Given the description of an element on the screen output the (x, y) to click on. 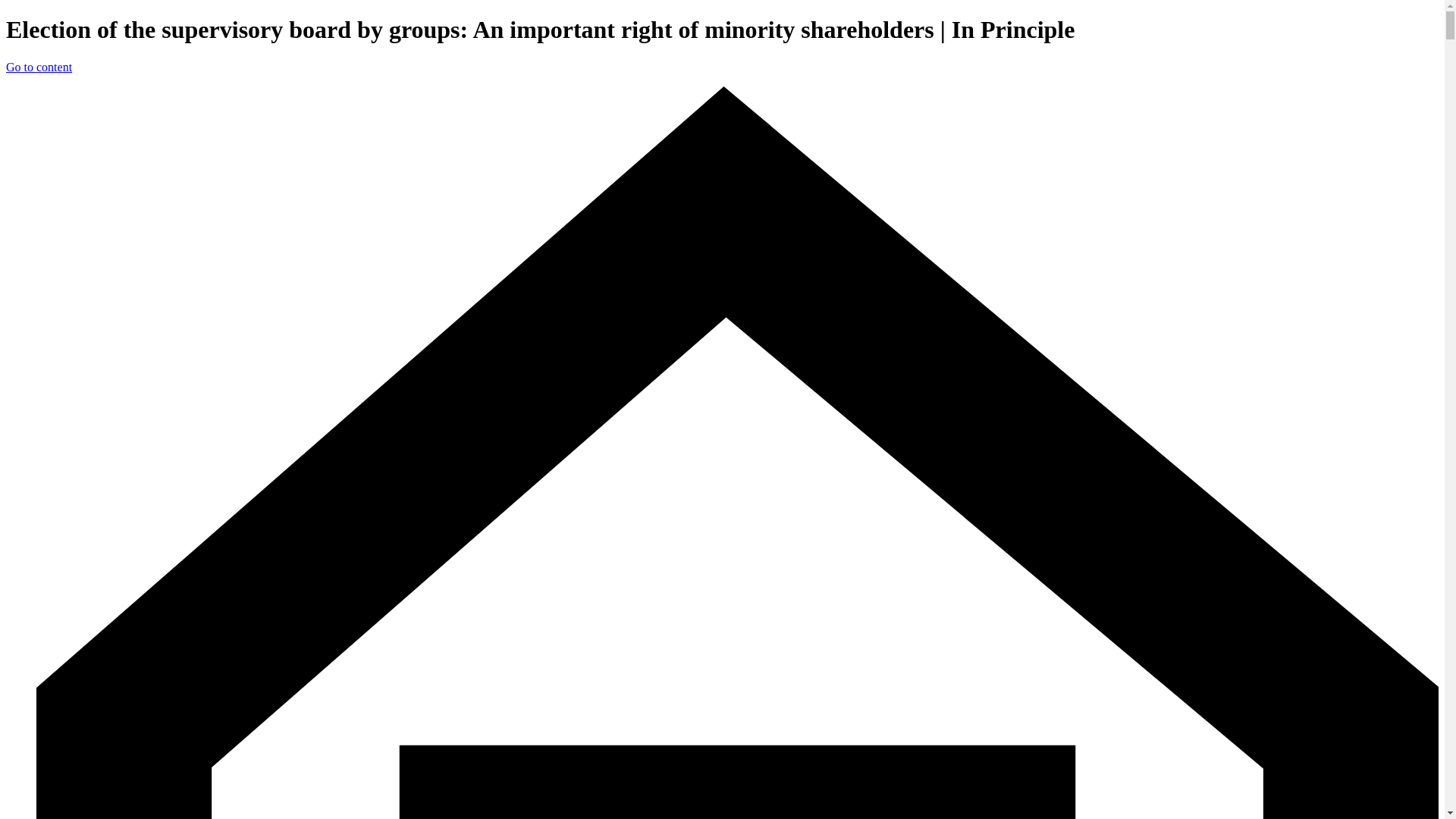
Go to content (38, 66)
